Given the description of an element on the screen output the (x, y) to click on. 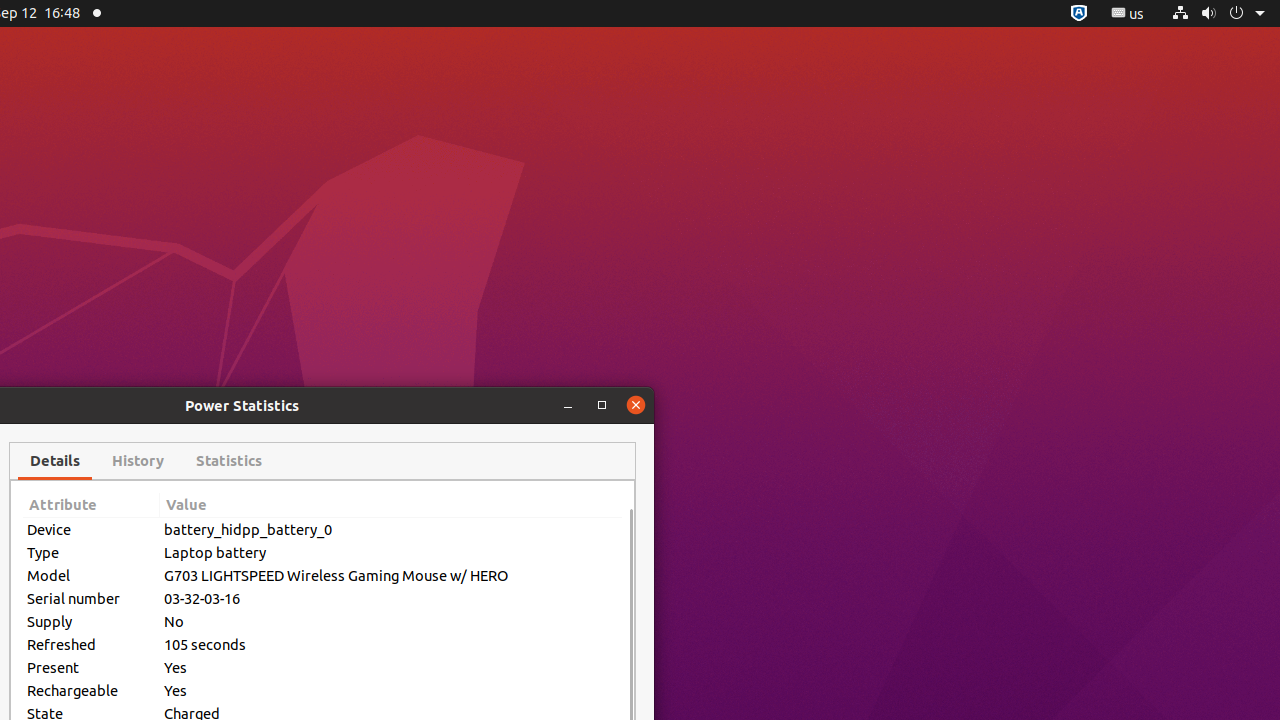
Rechargeable Element type: table-cell (91, 690)
105 seconds Element type: table-cell (391, 644)
Statistics Element type: page-tab (229, 461)
Details Element type: page-tab (55, 461)
History Element type: page-tab (138, 461)
